Given the description of an element on the screen output the (x, y) to click on. 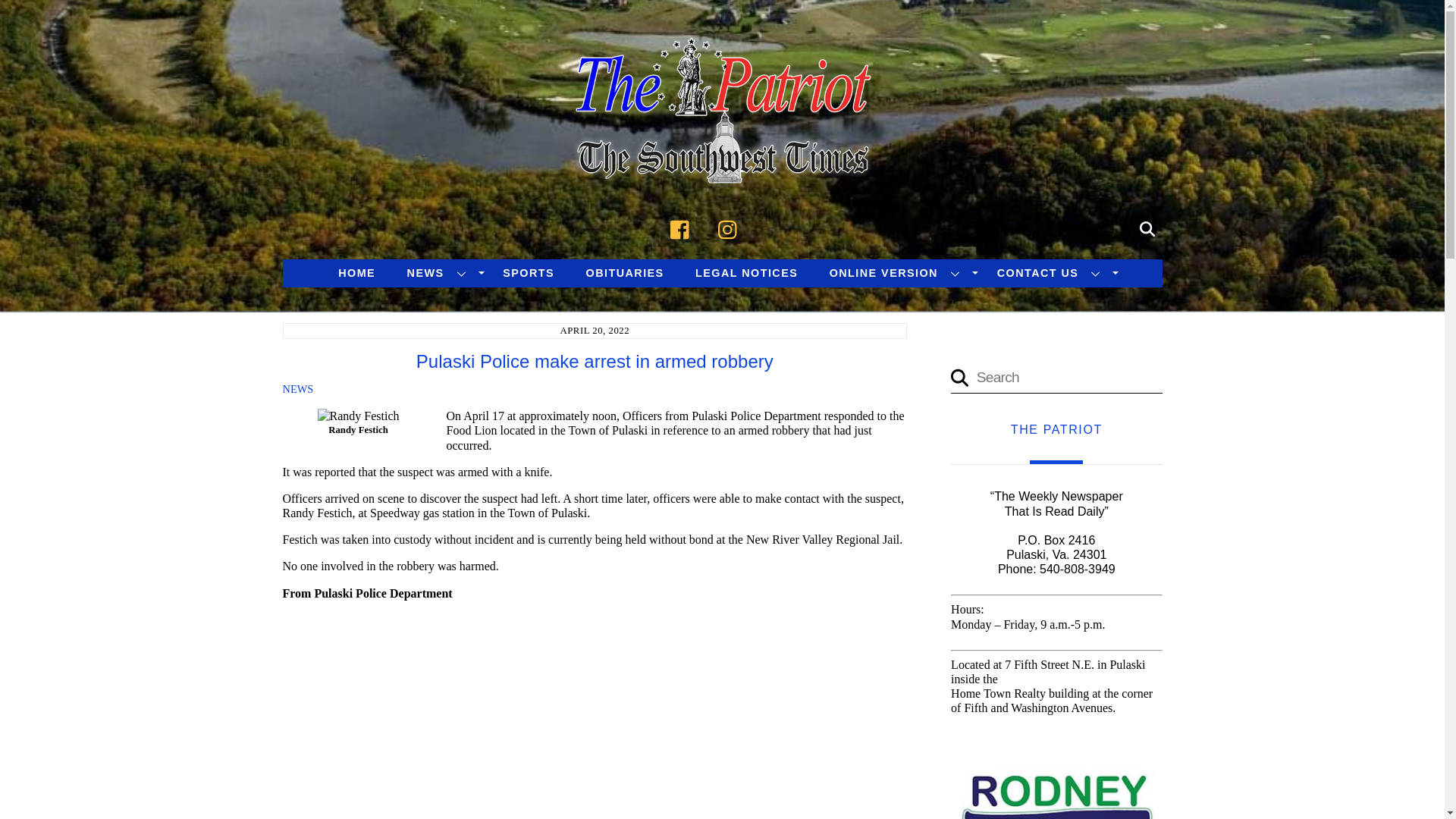
OBITUARIES (624, 272)
Search (1146, 227)
NEWS (297, 388)
Patriot Publishing LLC (721, 165)
SPORTS (528, 272)
Search (1055, 377)
LEGAL NOTICES (745, 272)
NEWS (439, 272)
CONTACT US (1051, 272)
Pulaski Police make arrest in armed robbery 1 (357, 415)
HOME (356, 272)
ONLINE VERSION (897, 272)
